Given the description of an element on the screen output the (x, y) to click on. 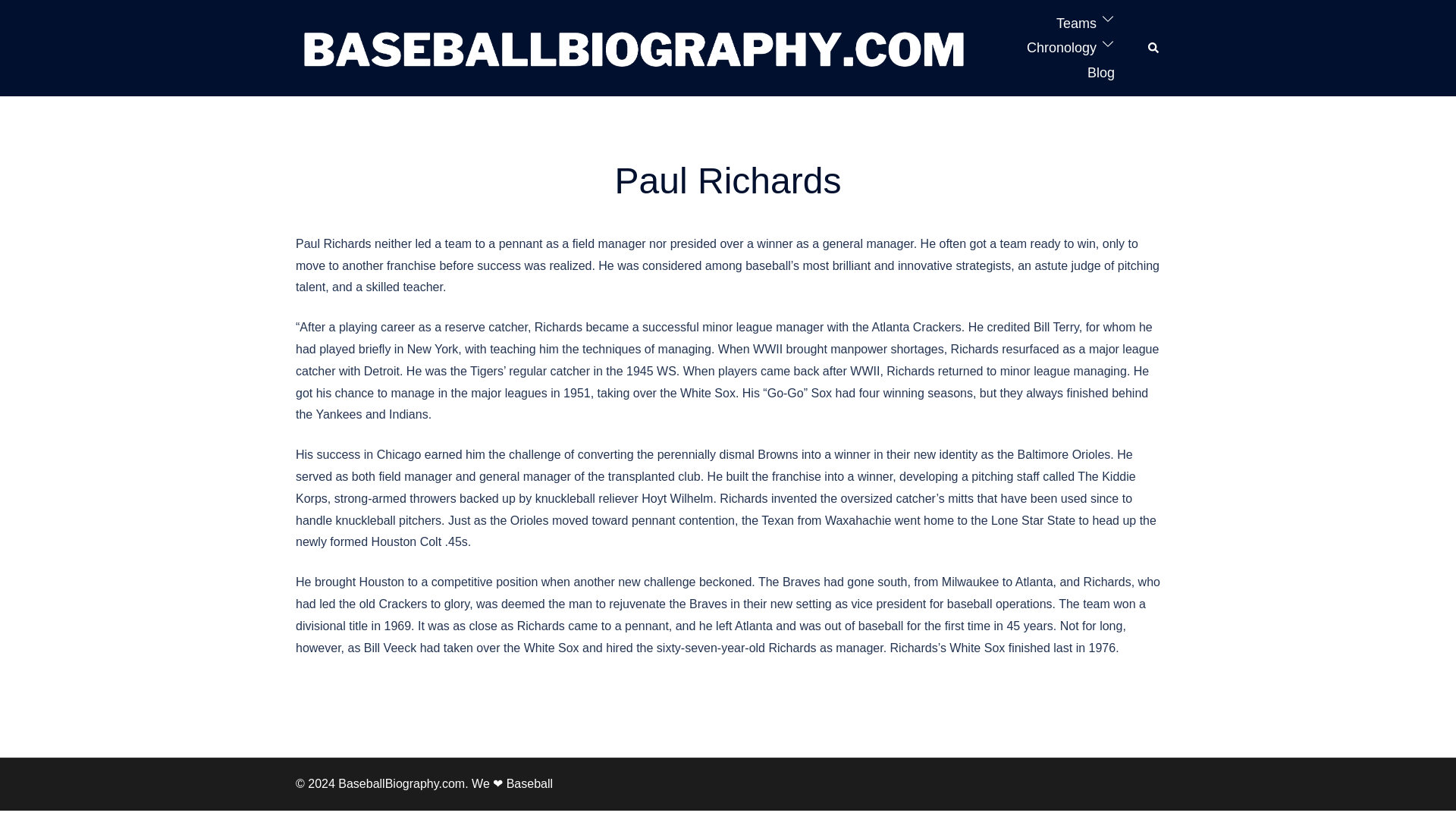
BaseballBiography.com (633, 47)
Blog (1101, 72)
Search (1154, 47)
Chronology (1061, 47)
Teams (1076, 23)
